Given the description of an element on the screen output the (x, y) to click on. 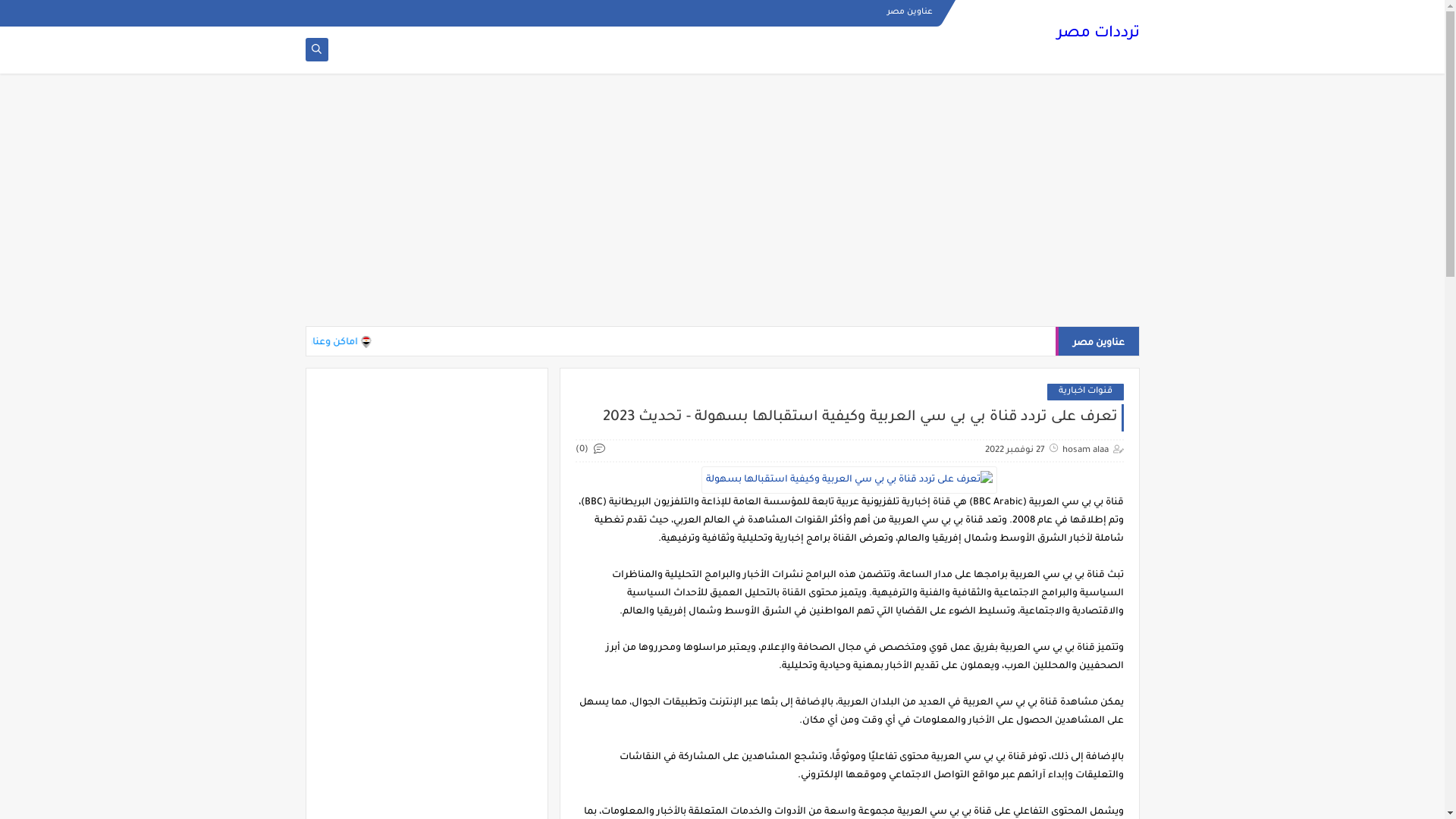
hosam alaa Element type: text (1084, 450)
Advertisement Element type: hover (721, 206)
